Given the description of an element on the screen output the (x, y) to click on. 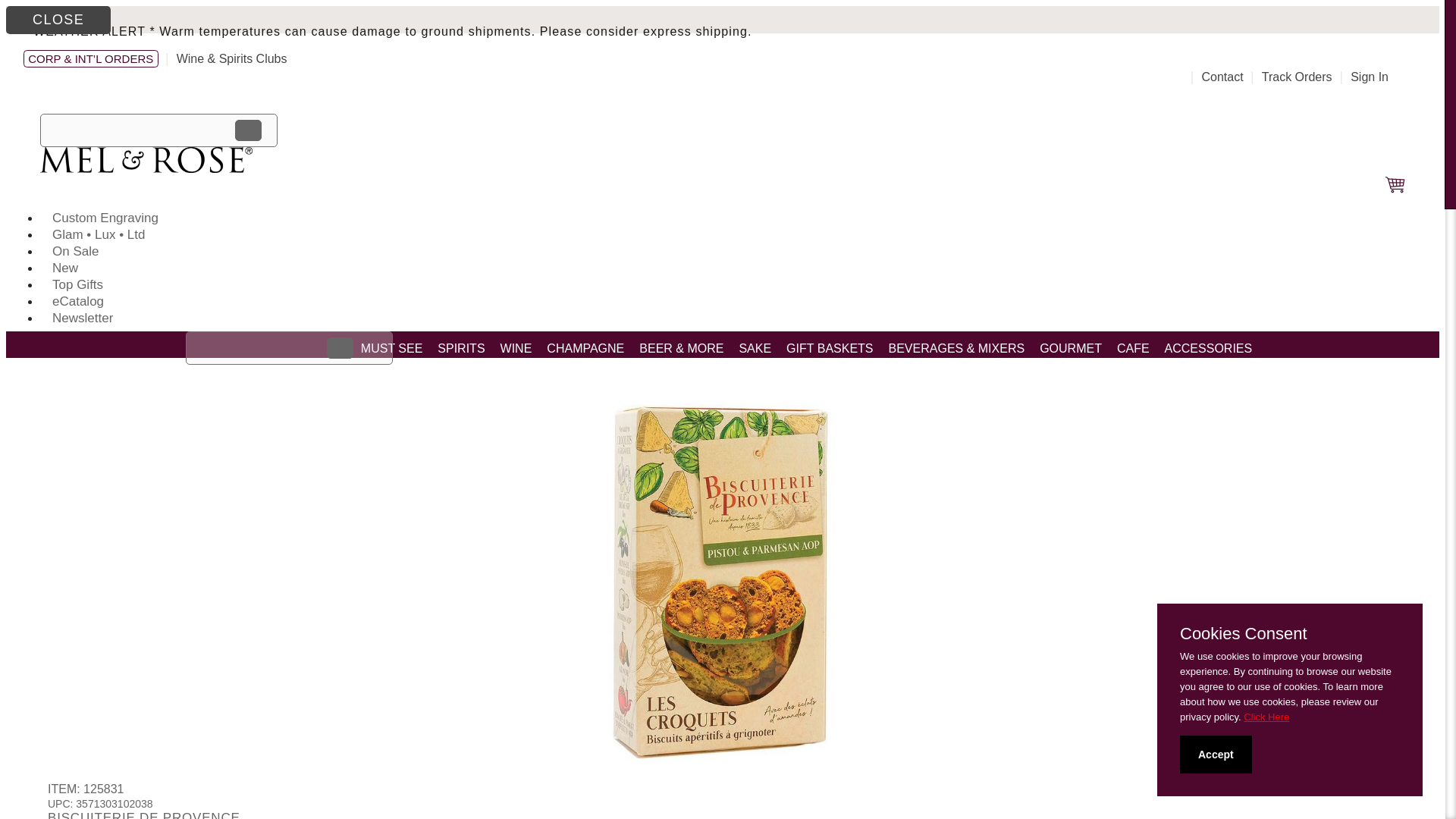
Sign In (1370, 76)
MUST SEE (392, 347)
Shop Must See Products (392, 347)
Site Logo (145, 168)
Custom Engraving (105, 217)
eCatalog (78, 301)
Contact (1222, 76)
Track Orders (1297, 76)
Shop Spirits Products (461, 347)
SPIRITS (461, 347)
Top Gifts (77, 284)
On Sale (75, 251)
Newsletter (82, 318)
Custom Engraving (105, 217)
Top Gifts (77, 284)
